Given the description of an element on the screen output the (x, y) to click on. 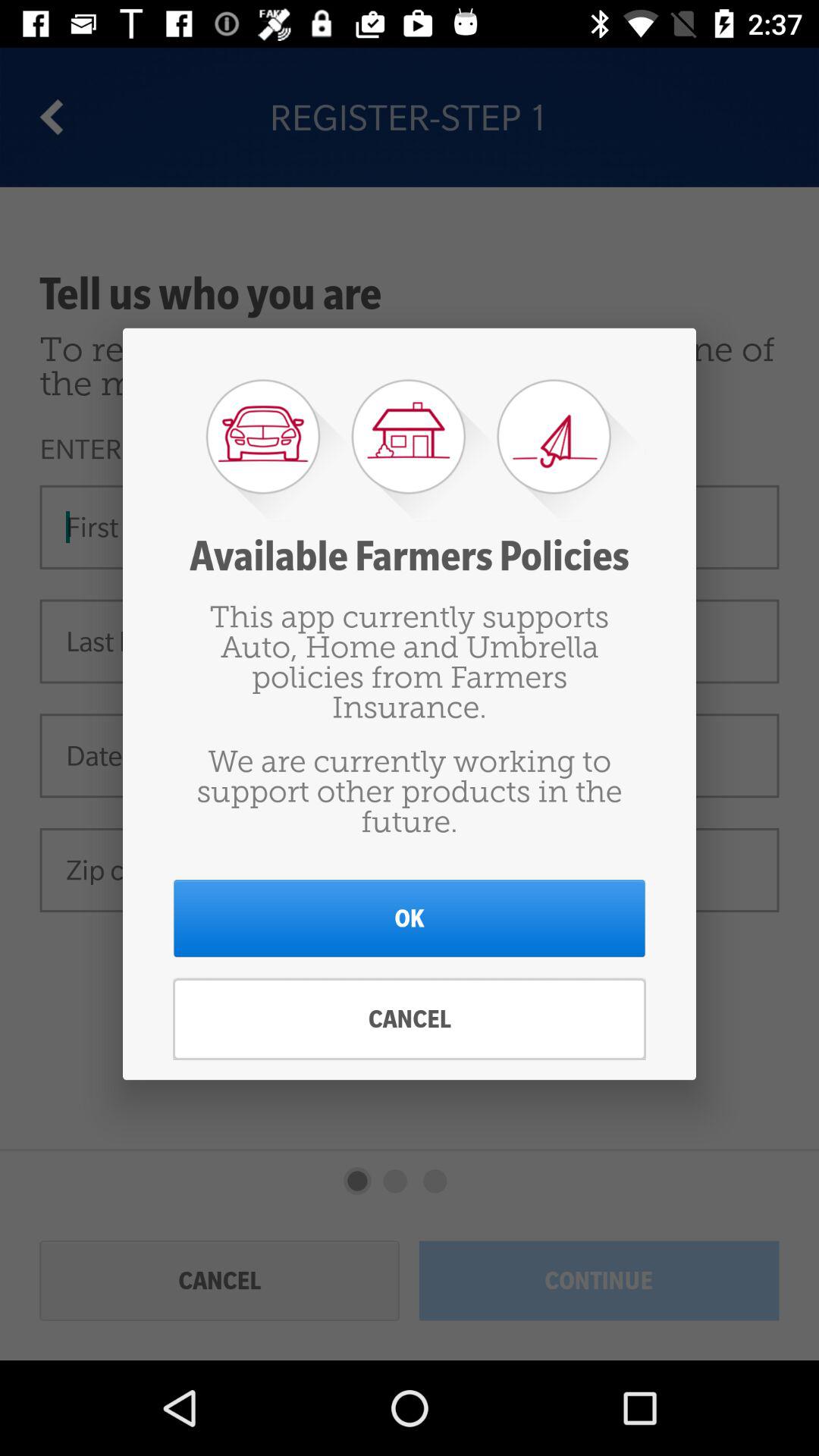
turn off cancel icon (409, 1019)
